Given the description of an element on the screen output the (x, y) to click on. 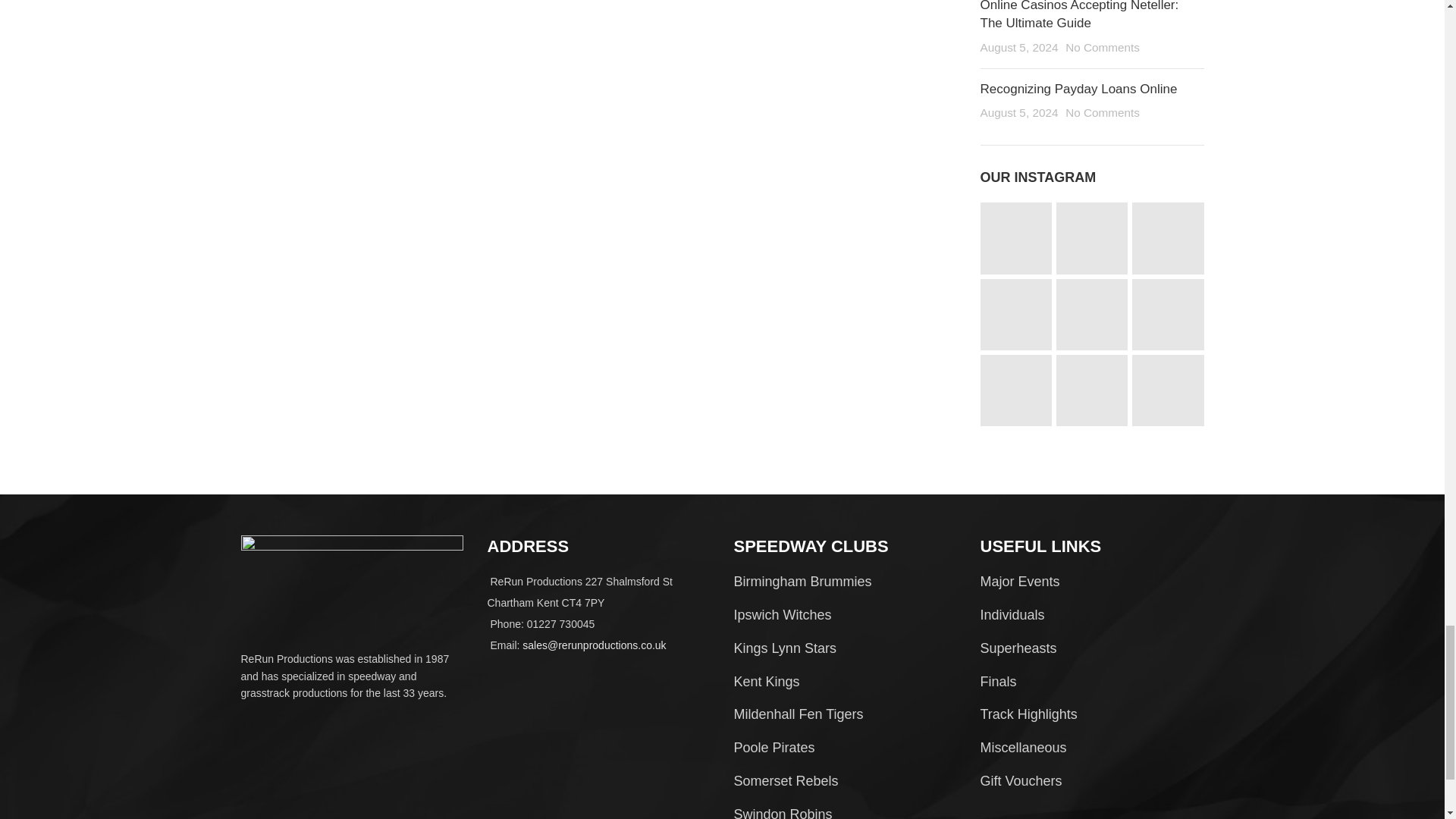
rerun logo (352, 579)
Permalink to Recognizing Payday Loans Online (1077, 88)
